Given the description of an element on the screen output the (x, y) to click on. 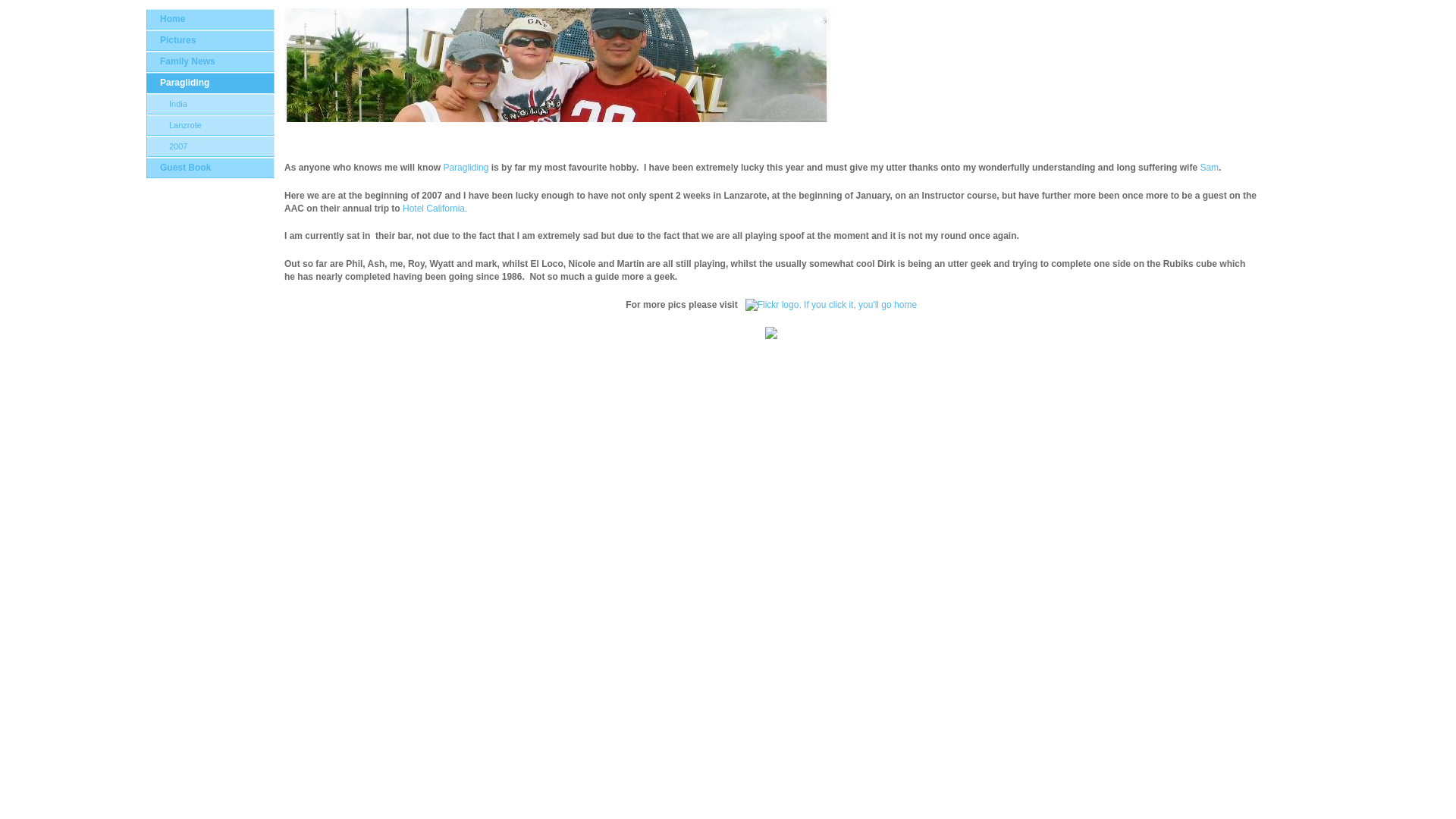
Family News (211, 61)
Lanzrote (211, 125)
Paragliding (464, 167)
Paragliding (211, 82)
Home (211, 19)
Guest Book (211, 168)
India (211, 104)
Sam (1208, 167)
Hotel California.     (440, 208)
2007 (211, 146)
Pictures (211, 40)
